Given the description of an element on the screen output the (x, y) to click on. 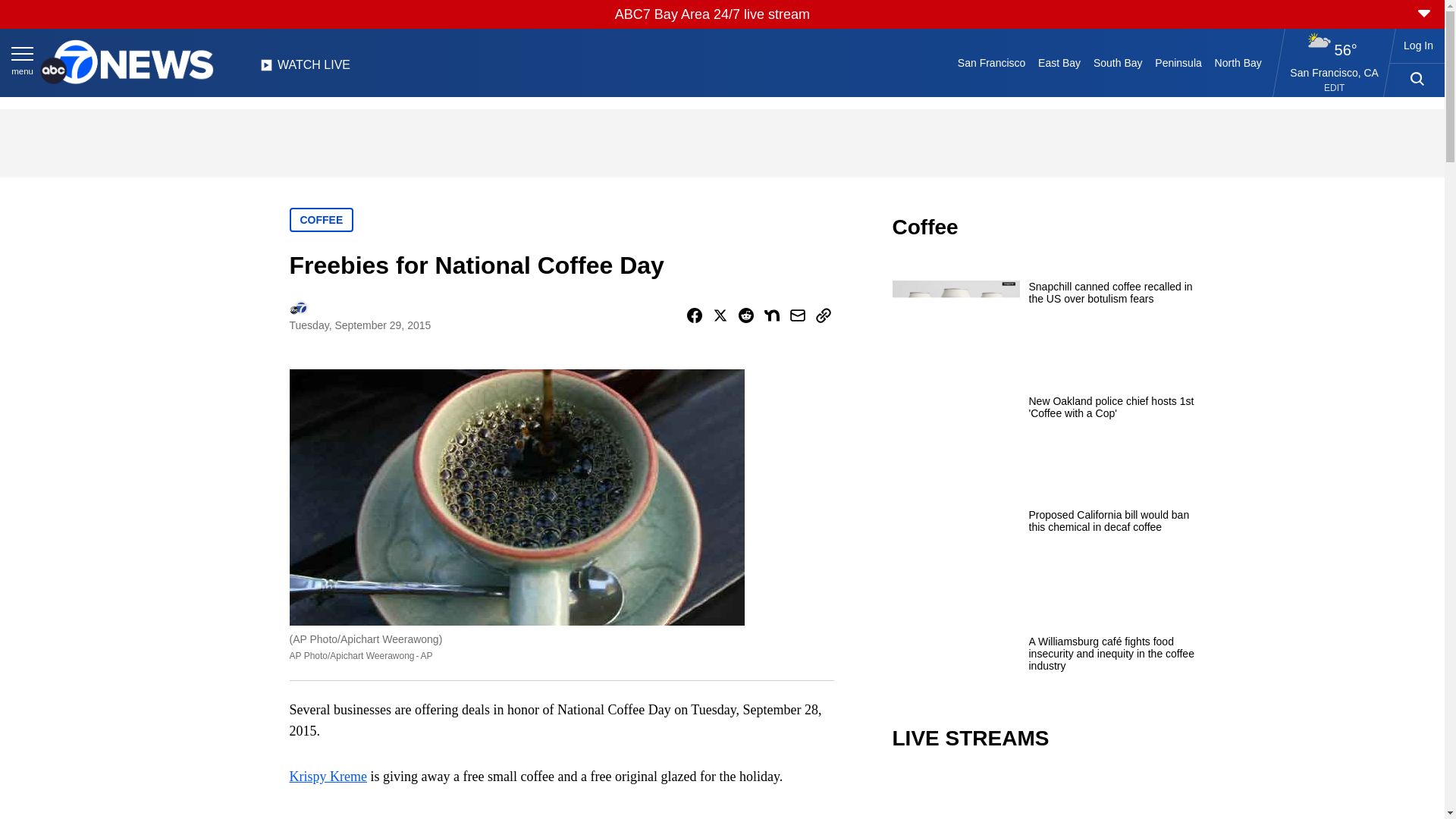
EDIT (1333, 87)
North Bay (1238, 62)
San Francisco (990, 62)
Peninsula (1178, 62)
video.title (1043, 796)
South Bay (1117, 62)
East Bay (1059, 62)
WATCH LIVE (305, 69)
San Francisco, CA (1334, 72)
